Given the description of an element on the screen output the (x, y) to click on. 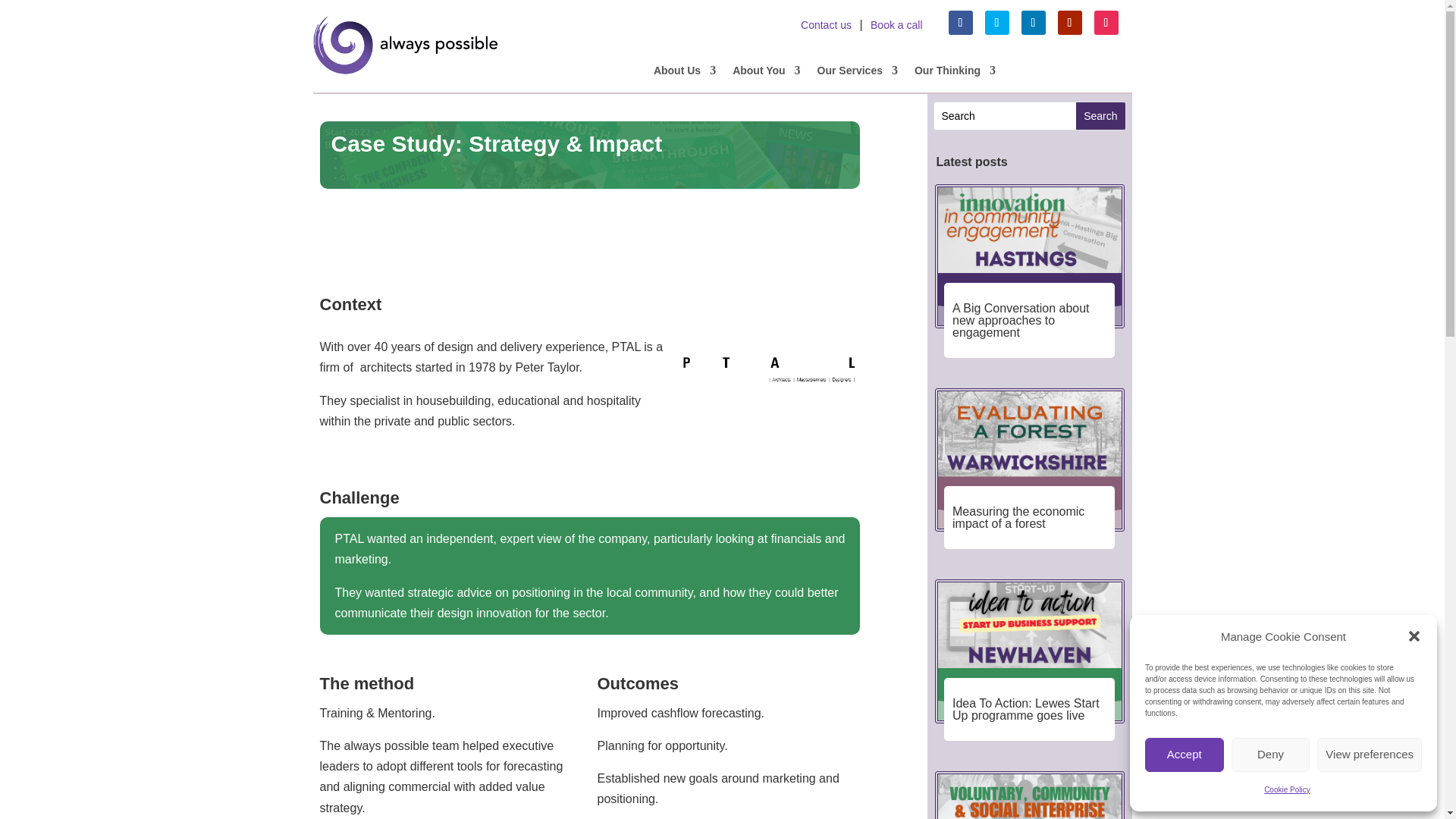
Follow on Youtube (1069, 22)
Contact us (826, 24)
Search (1099, 115)
Follow on Twitter (996, 22)
View preferences (1369, 754)
Follow on Facebook (959, 22)
Accept (1184, 754)
Book a call (896, 24)
Follow on Instagram (1105, 22)
Cookie Policy (1286, 789)
